Given the description of an element on the screen output the (x, y) to click on. 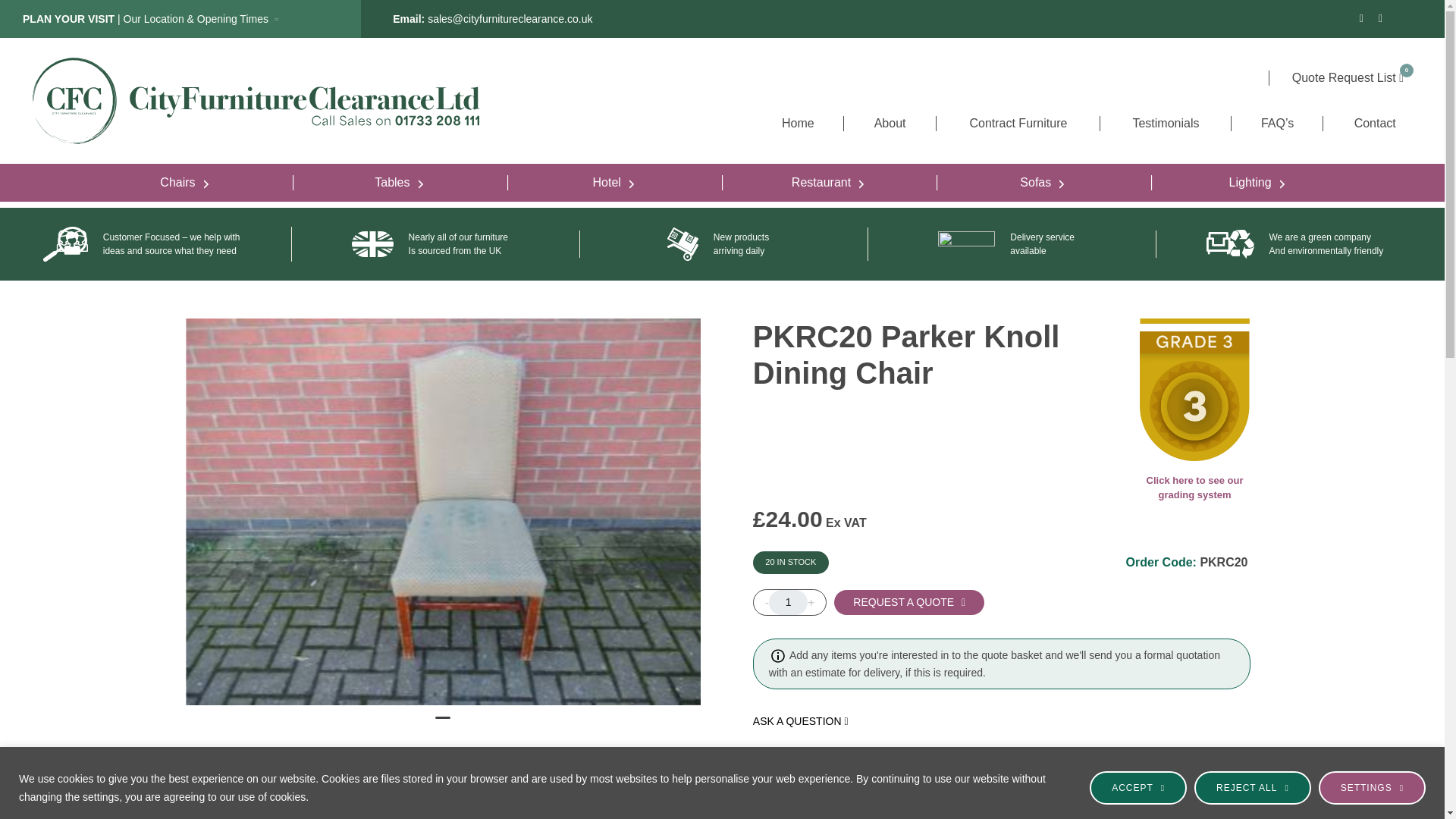
Contract Furniture (1018, 123)
Testimonials (1165, 123)
About (889, 123)
Home (797, 123)
ACCEPT (1137, 786)
REJECT ALL (1252, 786)
Contact (1374, 123)
1 (788, 602)
SETTINGS (1372, 786)
Quote Request List (1347, 77)
